Given the description of an element on the screen output the (x, y) to click on. 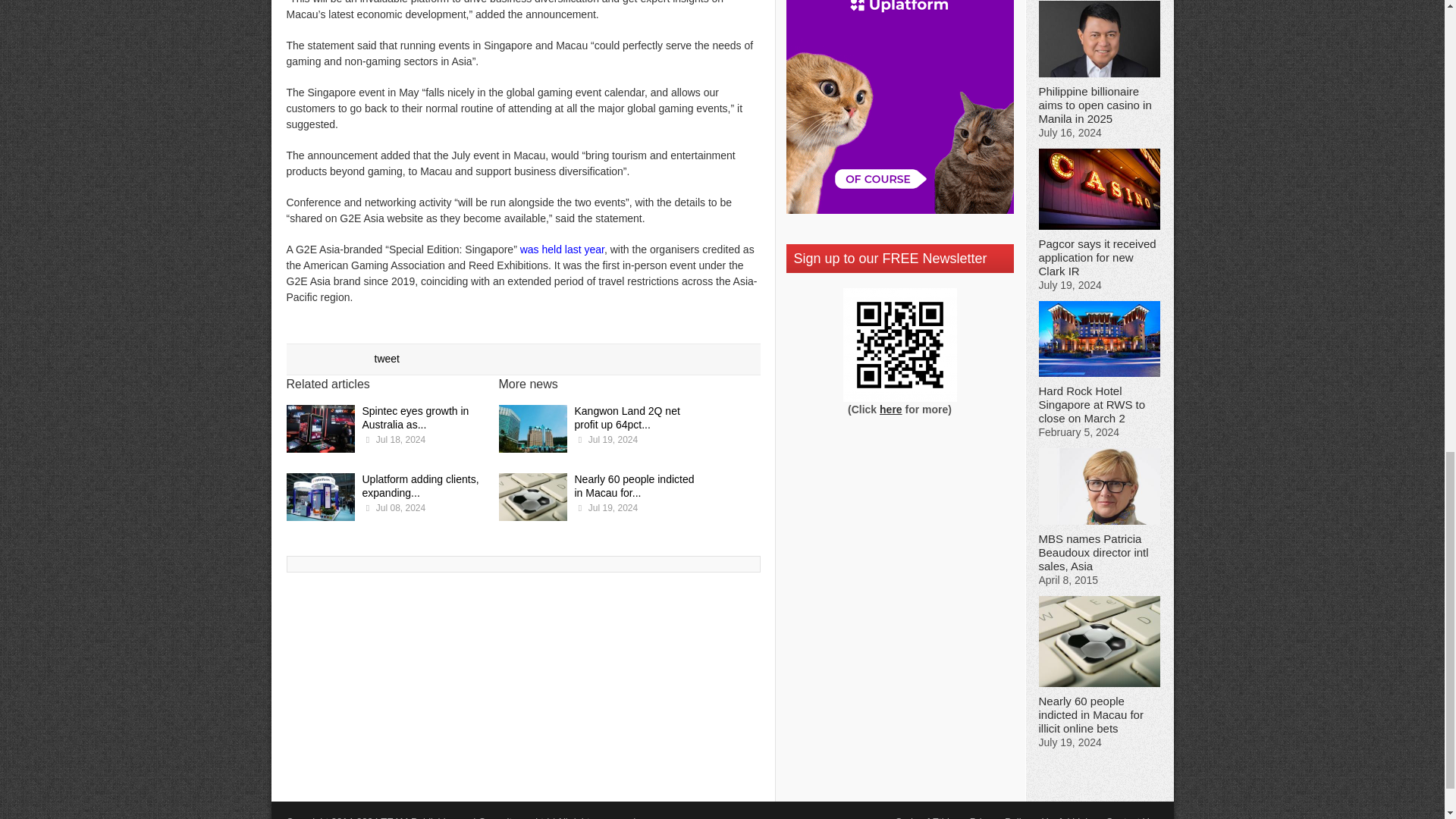
Spintec eyes growth in Australia as... (415, 417)
tweet (386, 358)
Nearly 60 people indicted in Macau for illicit online bets (533, 499)
Spintec eyes growth in Australia as more products certified (320, 430)
Kangwon Land 2Q net profit up 64pct... (627, 417)
Uplatform adding clients, expanding... (420, 485)
Nearly 60 people indicted in Macau for... (634, 485)
Uplatform adding clients, expanding team: marketing head (320, 499)
was held last year (561, 249)
